Given the description of an element on the screen output the (x, y) to click on. 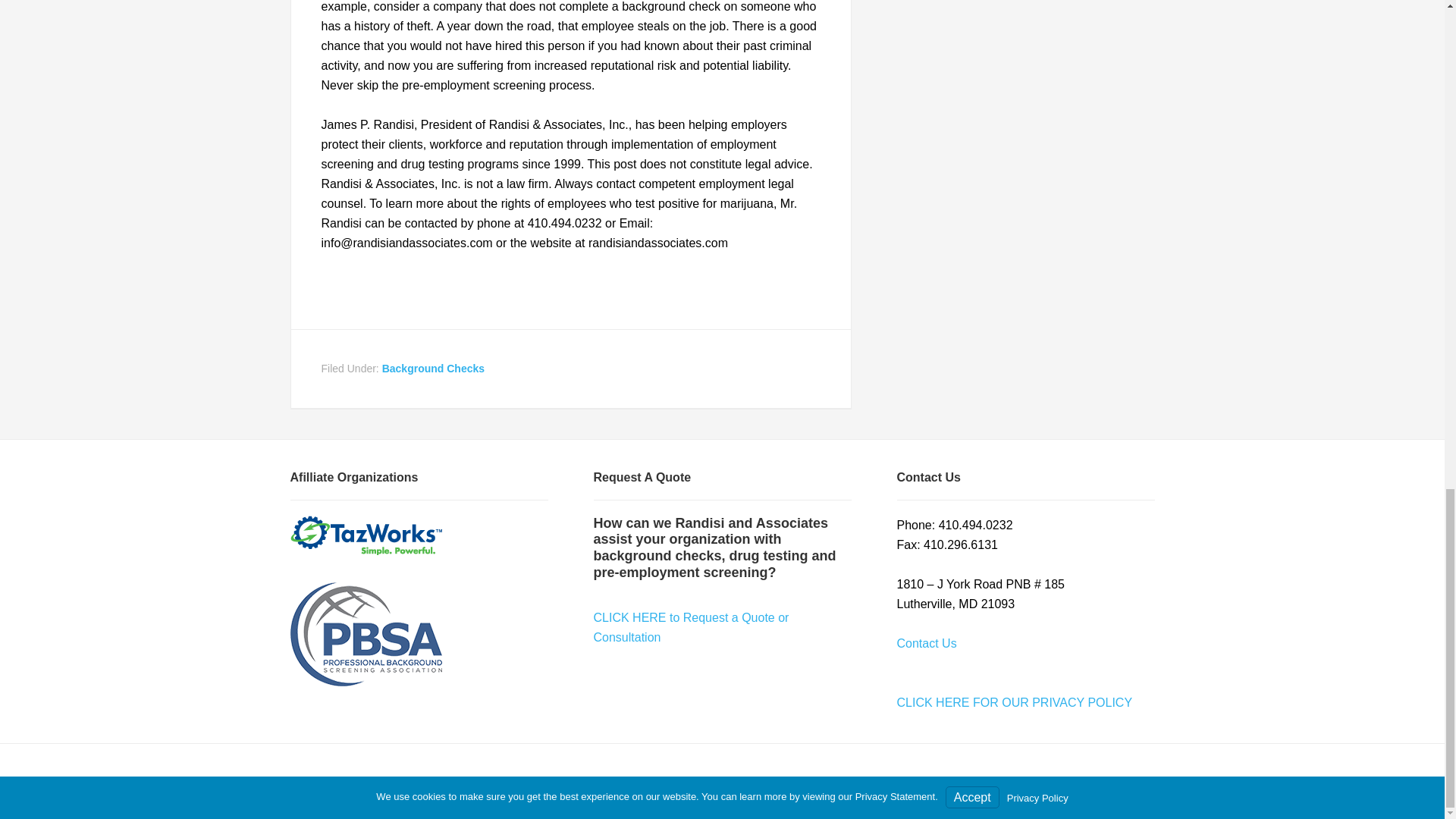
Background Checks (432, 368)
